Given the description of an element on the screen output the (x, y) to click on. 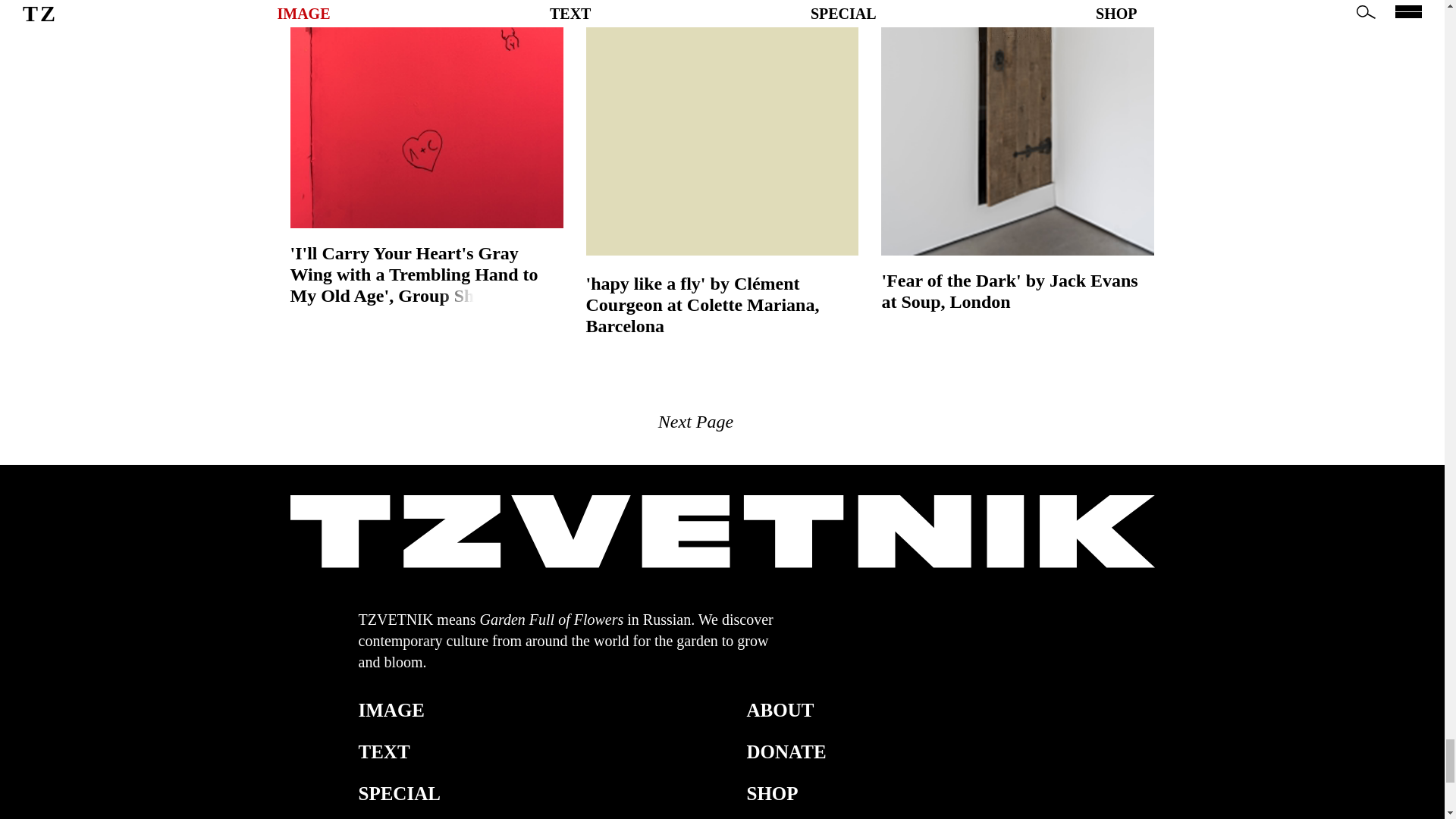
SPECIAL (398, 793)
IMAGE (391, 710)
Next Page (694, 421)
TEXT (383, 752)
'Fear of the Dark' by Jack Evans at Soup, London (1017, 291)
